Given the description of an element on the screen output the (x, y) to click on. 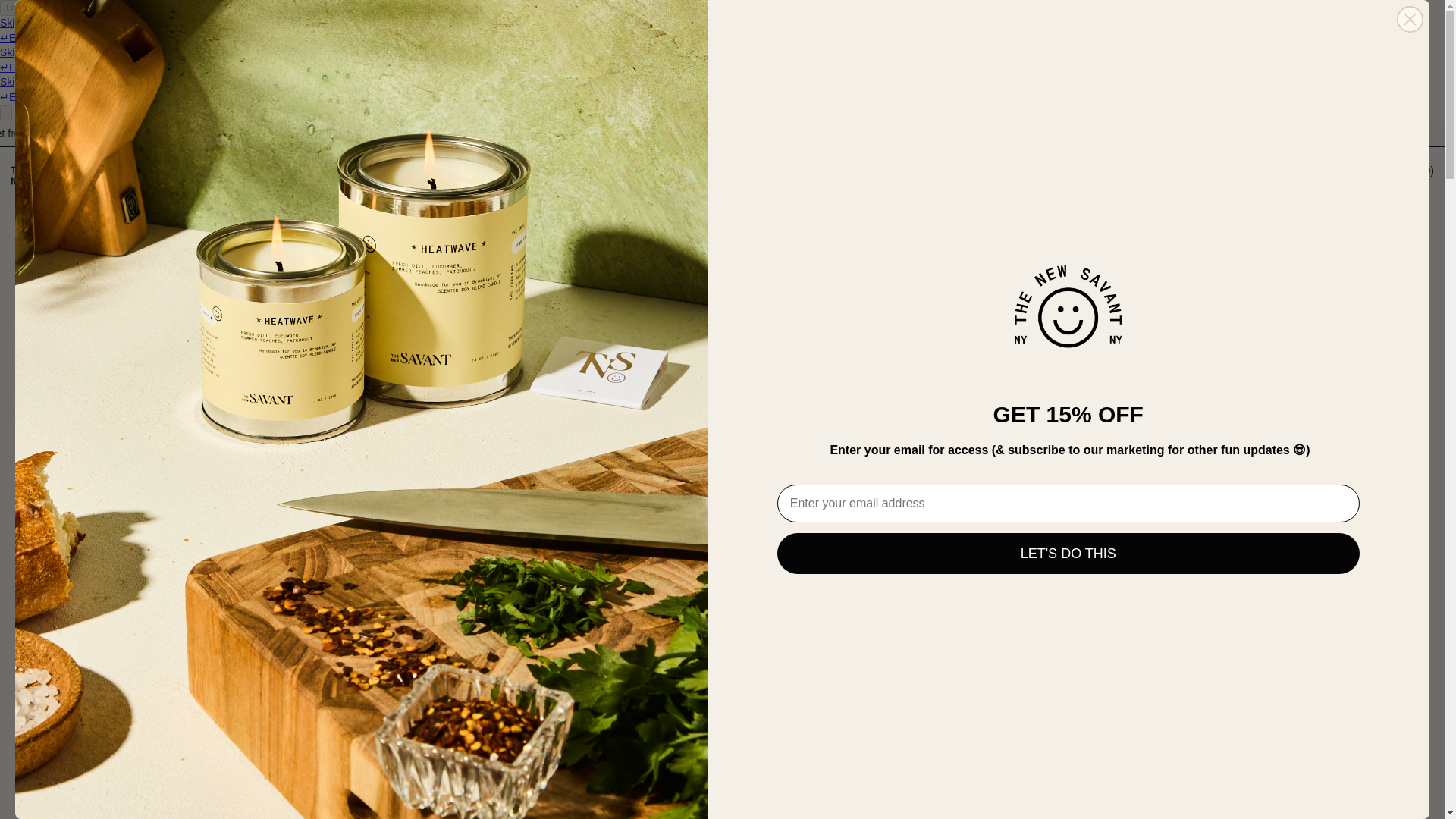
The Story (510, 171)
The Shop (321, 171)
Close dialog 1 (1409, 18)
Log in (1075, 171)
thenewsavant.com (383, 383)
Cozy Club (899, 171)
Search (1243, 171)
The Library (704, 171)
